Given the description of an element on the screen output the (x, y) to click on. 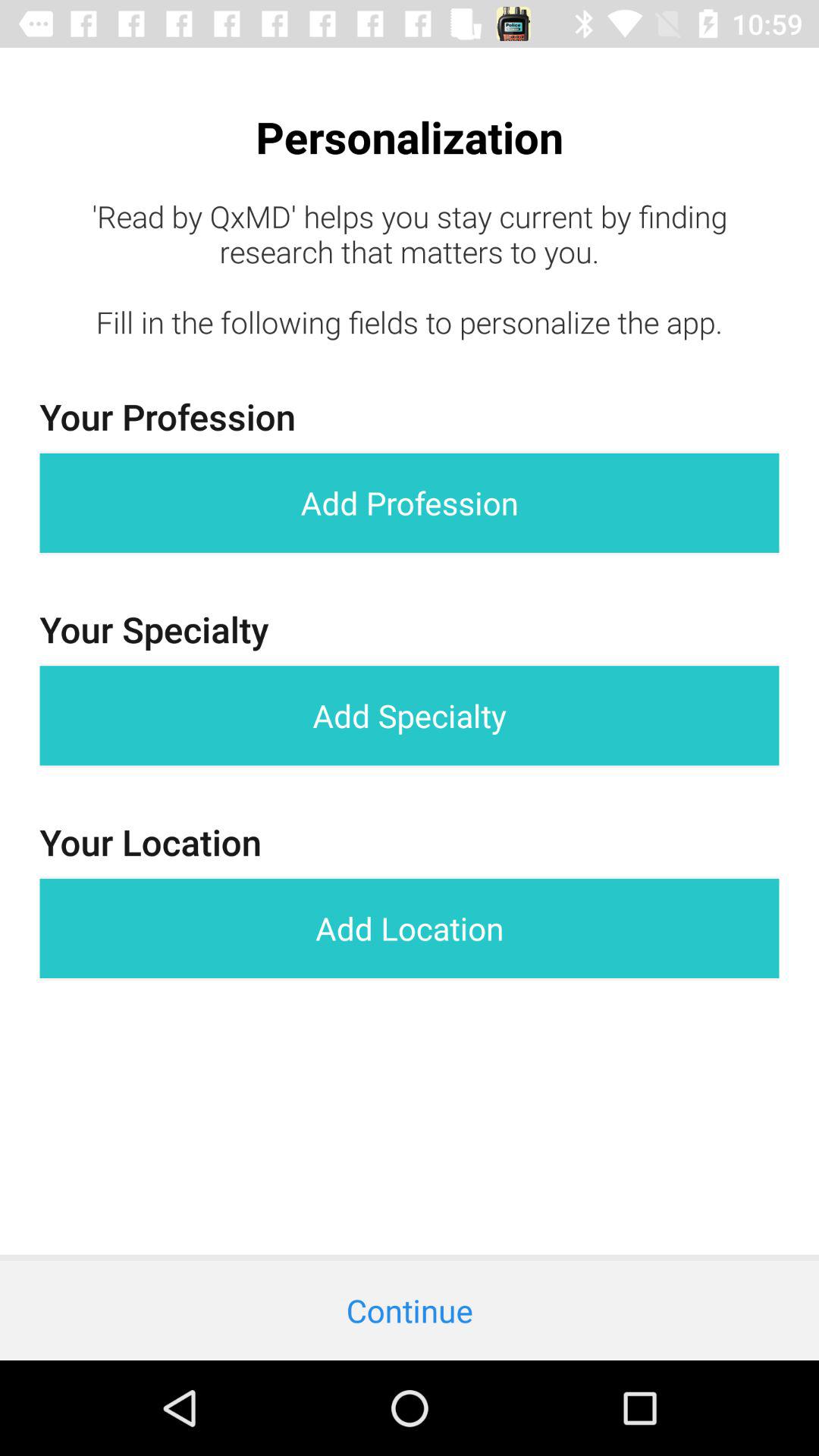
click the continue icon (409, 1310)
